Given the description of an element on the screen output the (x, y) to click on. 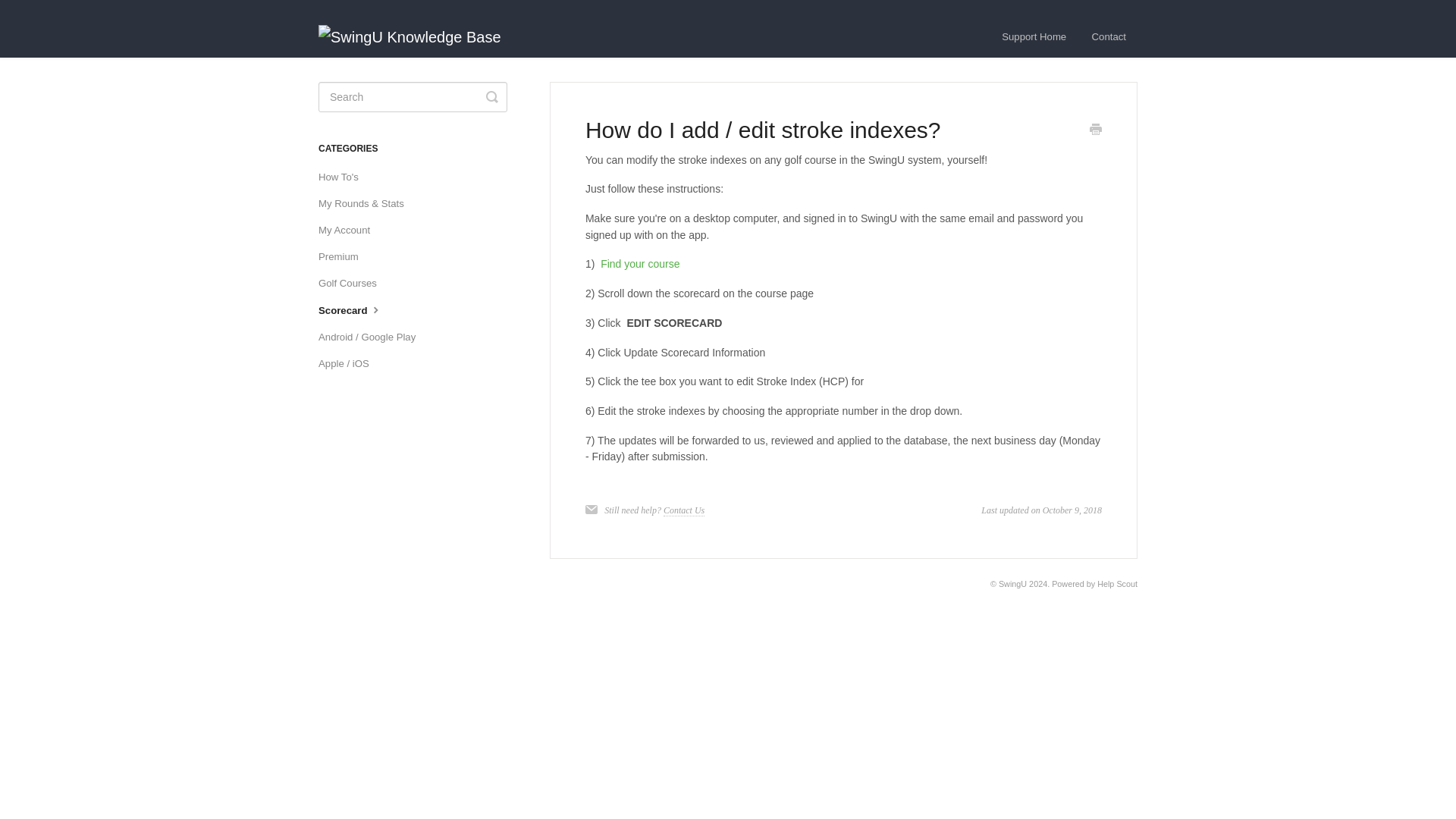
Contact Us (683, 510)
Contact (1108, 36)
search-query (412, 96)
Find your course (639, 263)
My Account (349, 230)
Premium (343, 256)
Support Home (1033, 36)
Golf Courses (353, 283)
How To's (343, 177)
SwingU (1012, 583)
